Given the description of an element on the screen output the (x, y) to click on. 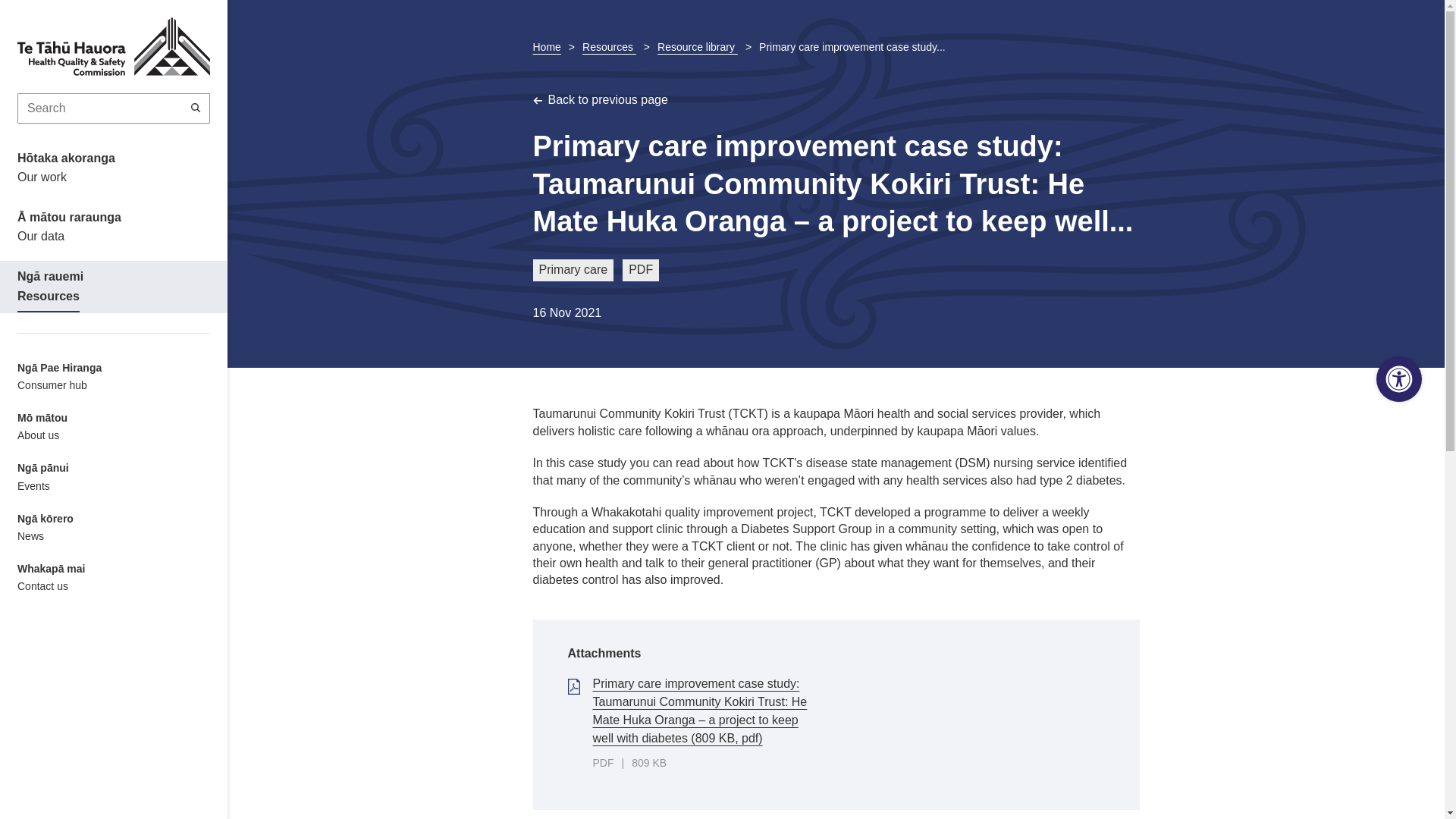
Search (195, 108)
